Given the description of an element on the screen output the (x, y) to click on. 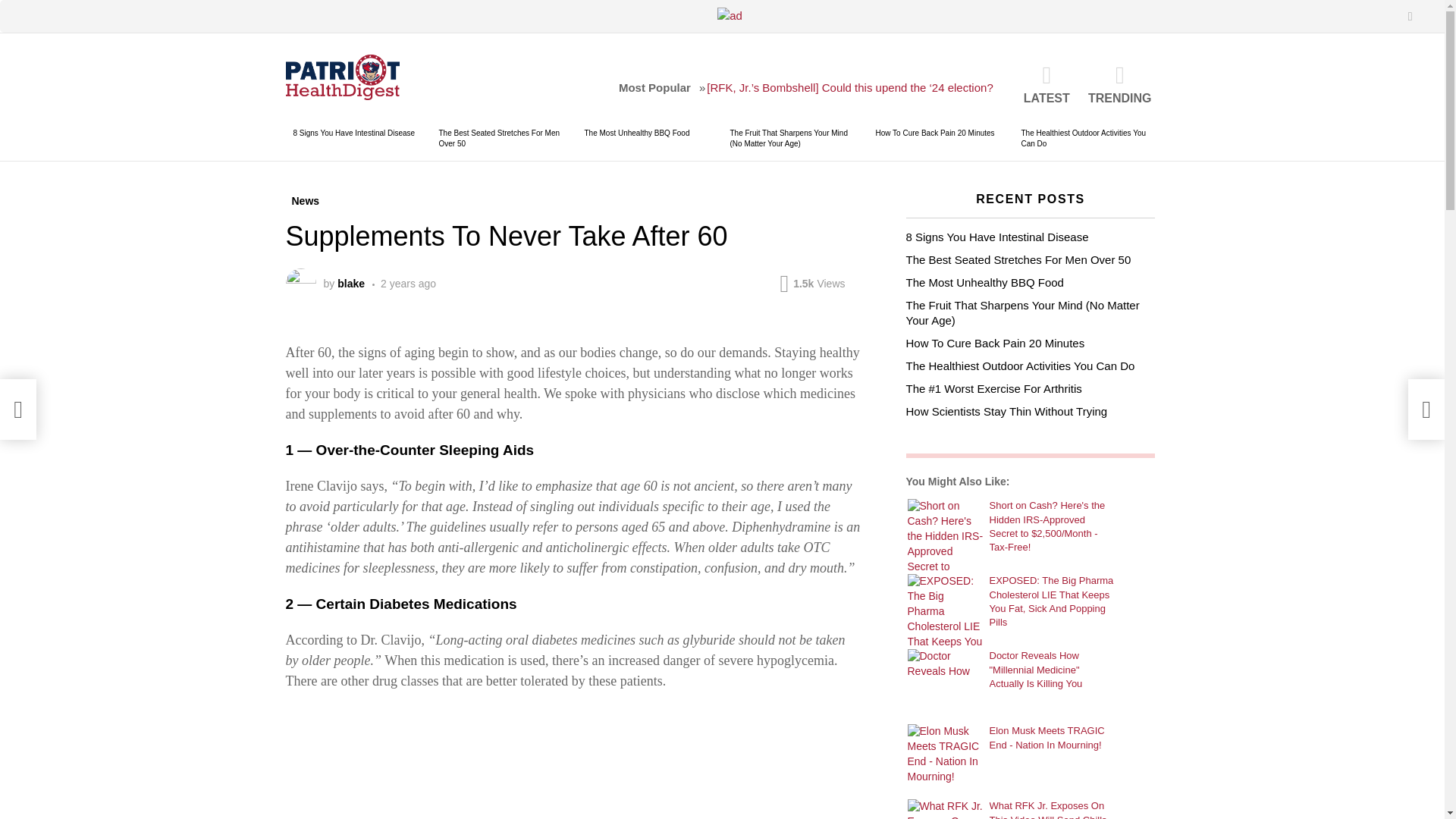
TRENDING (1119, 84)
Posts by blake (351, 283)
The Best Seated Stretches For Men Over 50 (498, 138)
8 Signs You Have Intestinal Disease (353, 132)
blake (351, 283)
The Most Unhealthy BBQ Food (635, 132)
How To Cure Back Pain 20 Minutes (934, 132)
LATEST (1046, 84)
News (304, 200)
The Healthiest Outdoor Activities You Can Do (1082, 138)
